Given the description of an element on the screen output the (x, y) to click on. 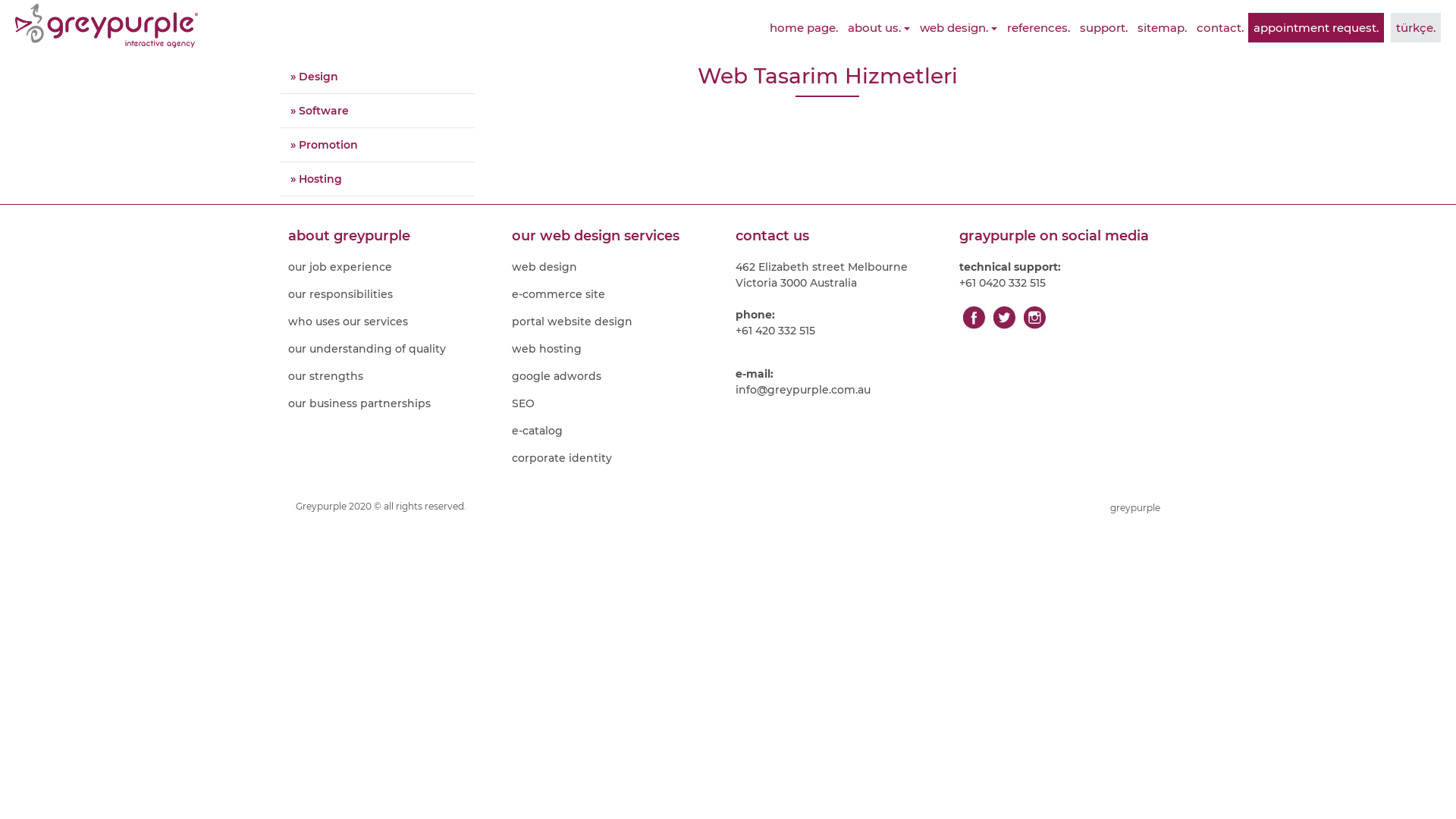
e-catalog Element type: text (615, 431)
corporate identity Element type: text (615, 458)
our strengths Element type: text (392, 376)
our job experience Element type: text (392, 267)
e-commerce site Element type: text (615, 294)
greypurple Element type: text (1135, 507)
contact us Element type: text (839, 235)
support. Element type: text (1103, 27)
web design Element type: text (615, 267)
our responsibilities Element type: text (392, 294)
portal website design Element type: text (615, 321)
graypurple on social media Element type: text (1063, 235)
who uses our services Element type: text (392, 321)
web hosting Element type: text (615, 349)
SEO Element type: text (615, 403)
+61 420 332 515 Element type: text (839, 330)
home page. Element type: text (803, 27)
references. Element type: text (1038, 27)
web design. Element type: text (958, 27)
sitemap. Element type: text (1162, 27)
+61 0420 332 515 Element type: text (1063, 283)
info@greypurple.com.au Element type: text (839, 390)
our business partnerships Element type: text (392, 403)
appointment request. Element type: text (1315, 27)
google adwords Element type: text (615, 376)
our understanding of quality Element type: text (392, 349)
our web design services Element type: text (615, 235)
about greypurple Element type: text (392, 235)
contact. Element type: text (1219, 27)
about us. Element type: text (878, 27)
